Given the description of an element on the screen output the (x, y) to click on. 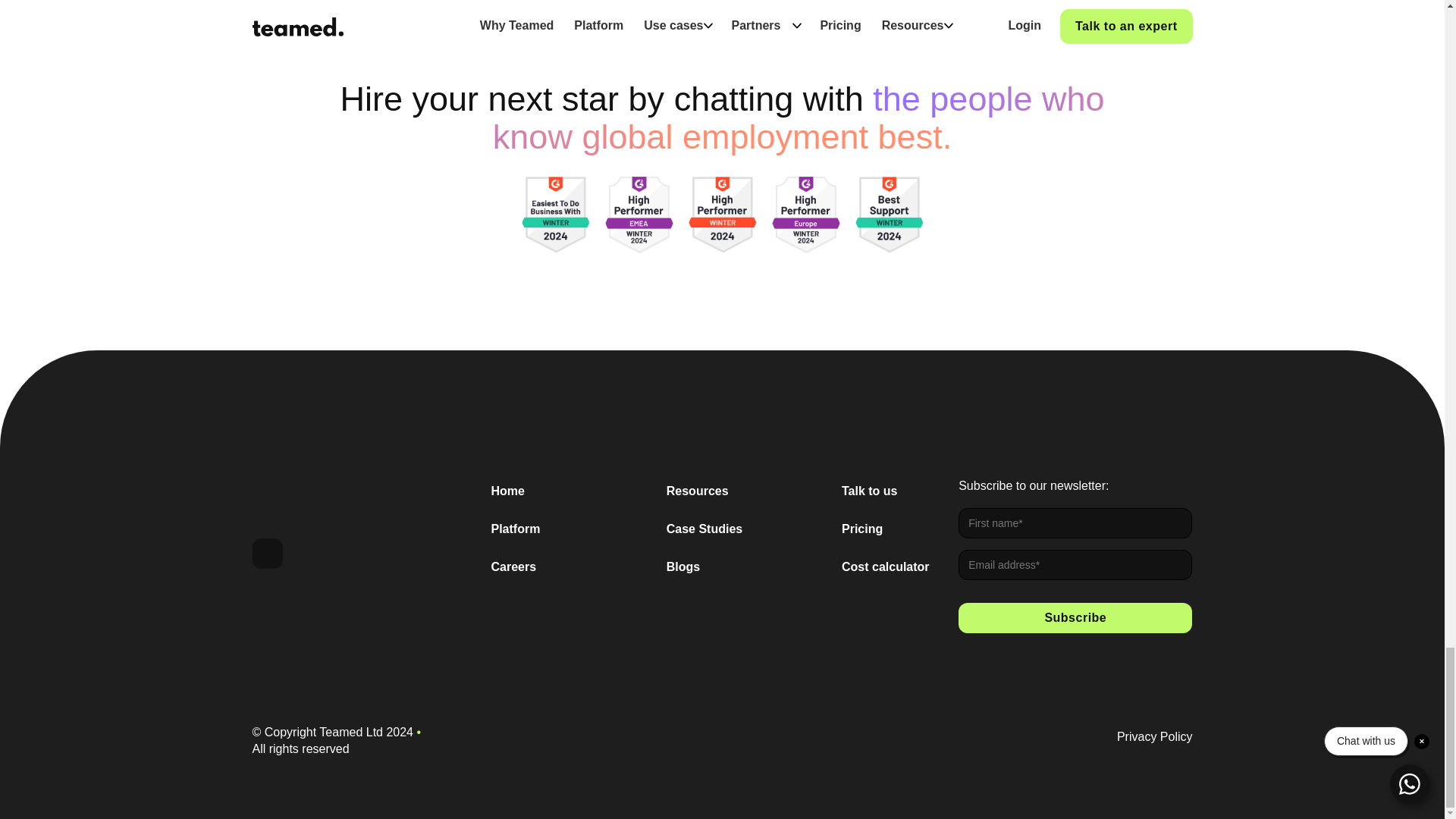
Subscribe (1075, 617)
